Given the description of an element on the screen output the (x, y) to click on. 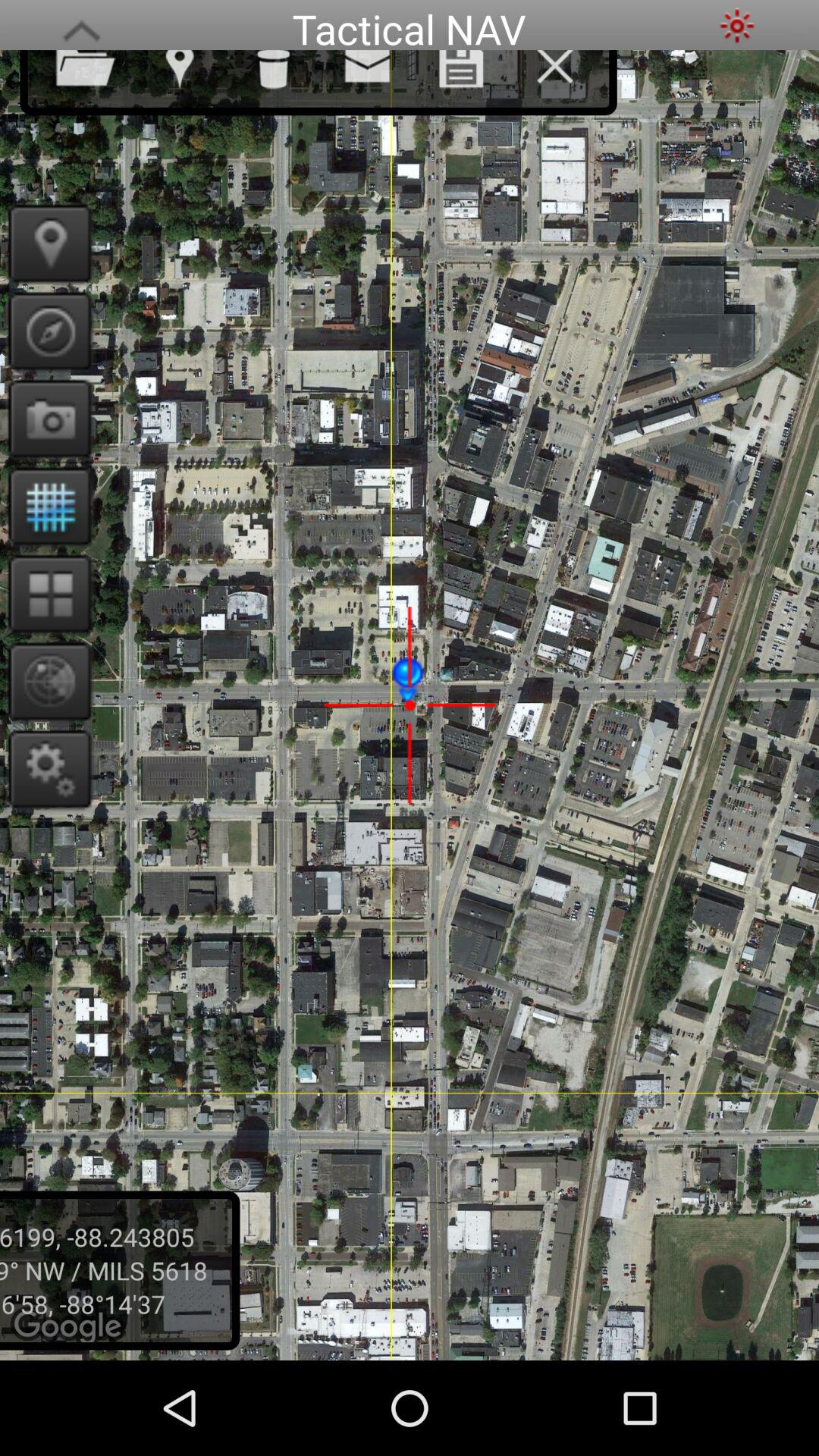
turn off the icon next to tactical nav item (737, 25)
